Given the description of an element on the screen output the (x, y) to click on. 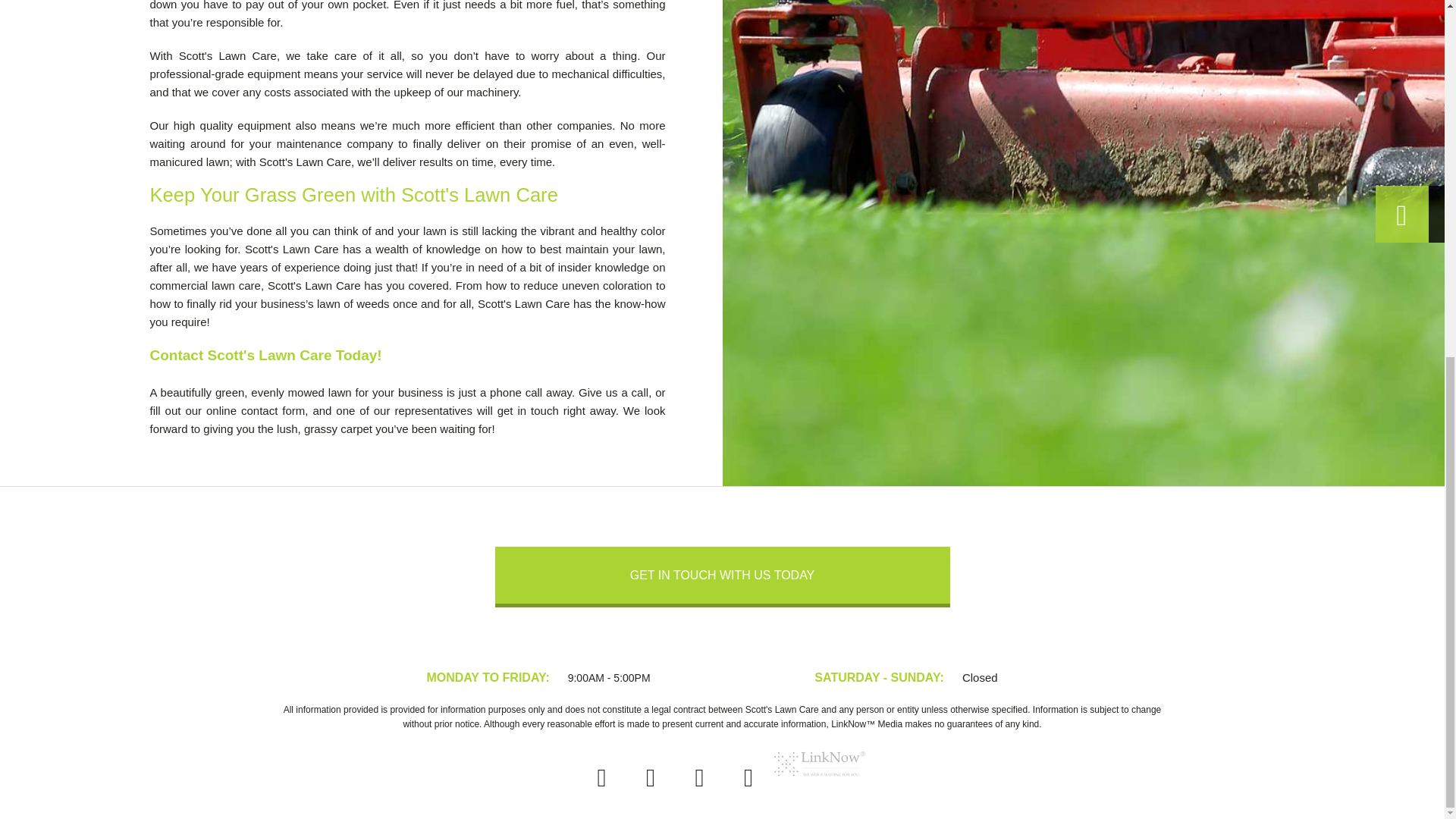
Connnect with YouTube (748, 781)
Connnect with Google Plus (699, 781)
Connnect with Twitter (649, 781)
Connnect with Facebook (601, 781)
